Given the description of an element on the screen output the (x, y) to click on. 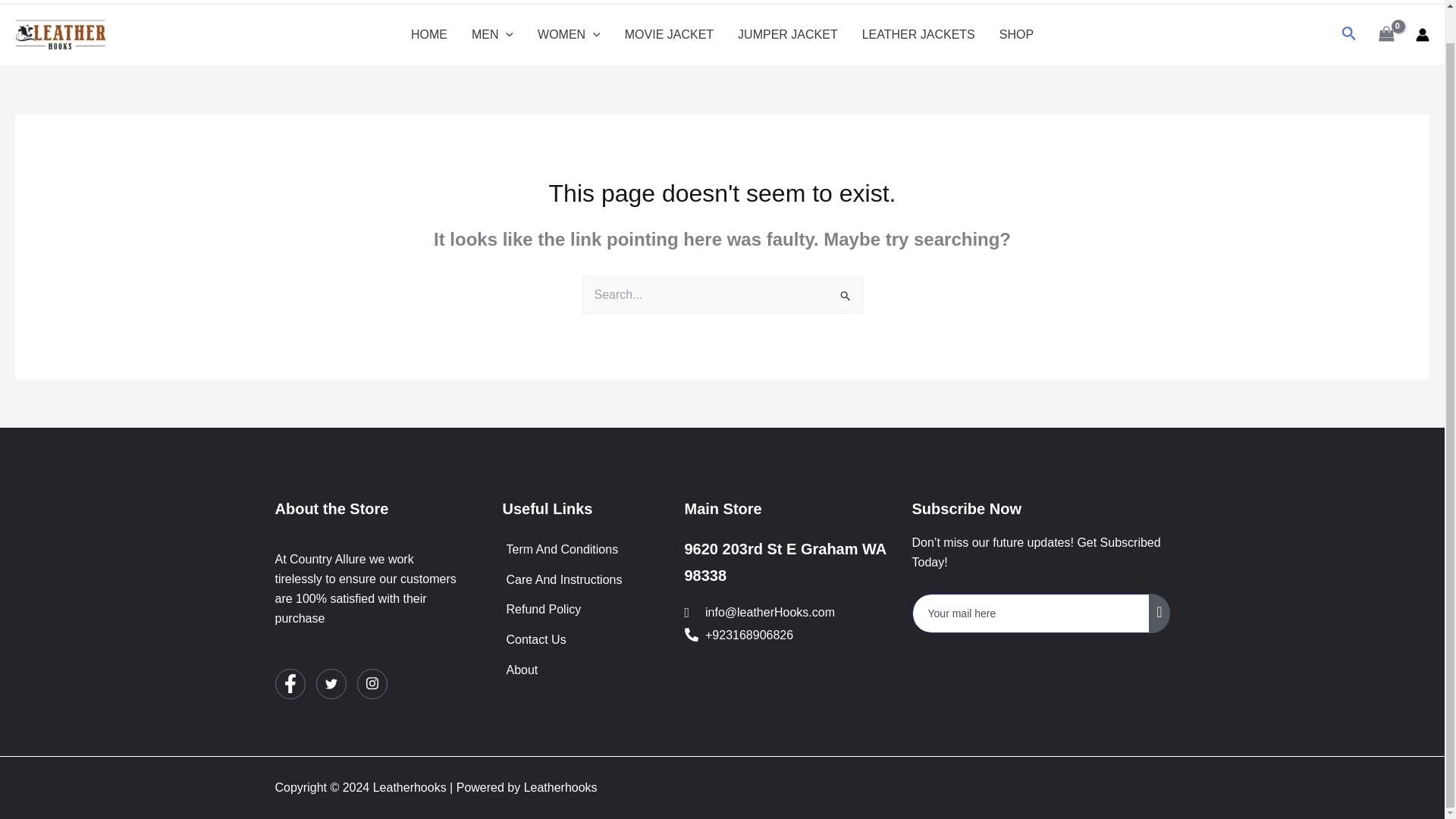
MOVIE JACKET (668, 34)
MEN (492, 34)
JUMPER JACKET (787, 34)
LEATHER JACKETS (918, 34)
HOME (429, 34)
SHOP (1016, 34)
WOMEN (568, 34)
